Given the description of an element on the screen output the (x, y) to click on. 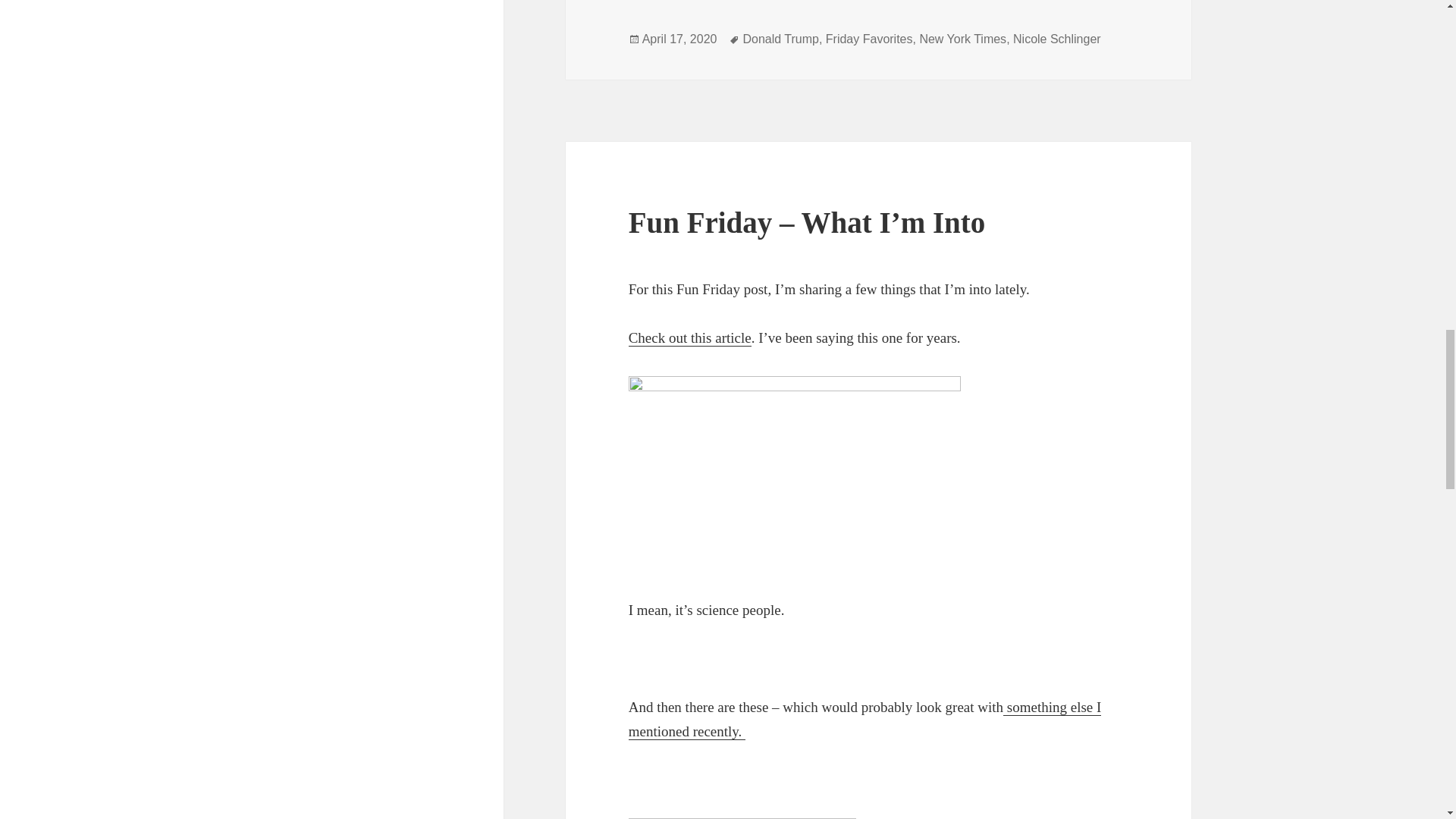
Nicole Schlinger (1056, 38)
New York Times (962, 38)
Friday Favorites (868, 38)
Donald Trump (780, 38)
April 17, 2020 (679, 38)
